Given the description of an element on the screen output the (x, y) to click on. 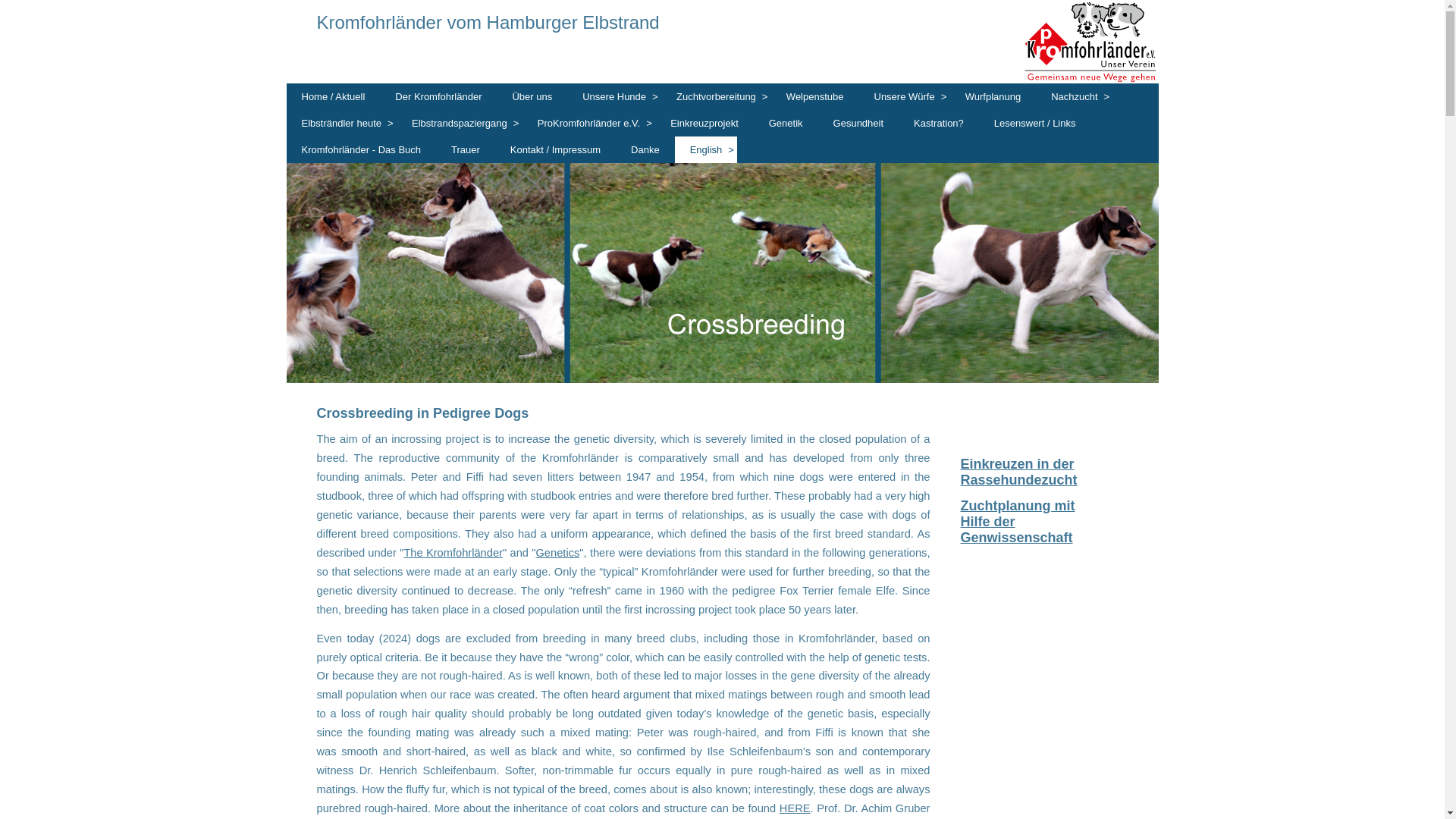
Unsere Hunde (614, 96)
Zuchtvorbereitung (716, 96)
Unsere Hunde (614, 96)
Welpenstube (815, 96)
Wurfplanung (992, 96)
Zuchtvorbereitung (716, 96)
Nachzucht (1073, 96)
Welpenstube (815, 96)
Wurfplanung (992, 96)
